Given the description of an element on the screen output the (x, y) to click on. 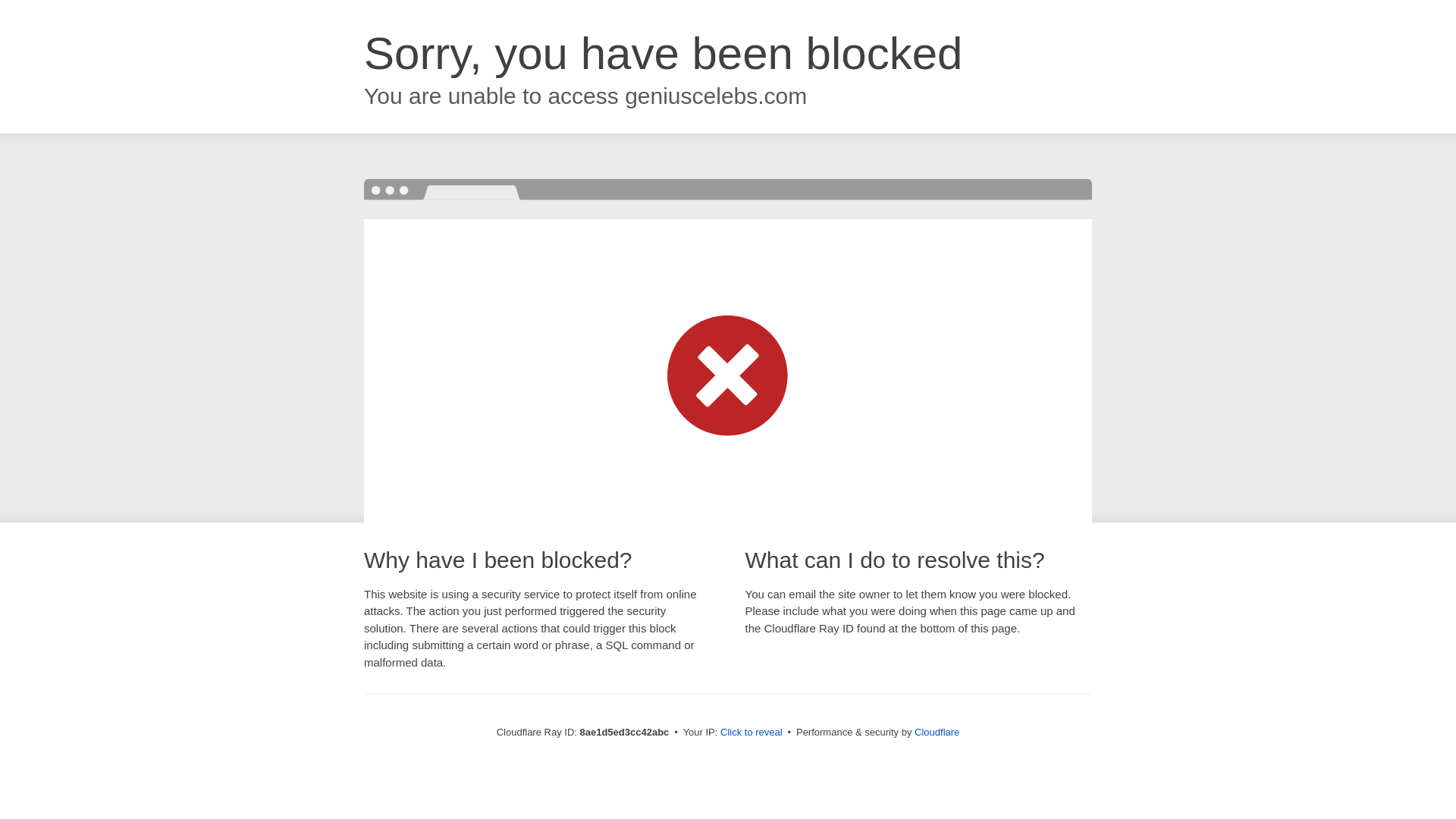
Click to reveal (751, 732)
Cloudflare (936, 731)
